Given the description of an element on the screen output the (x, y) to click on. 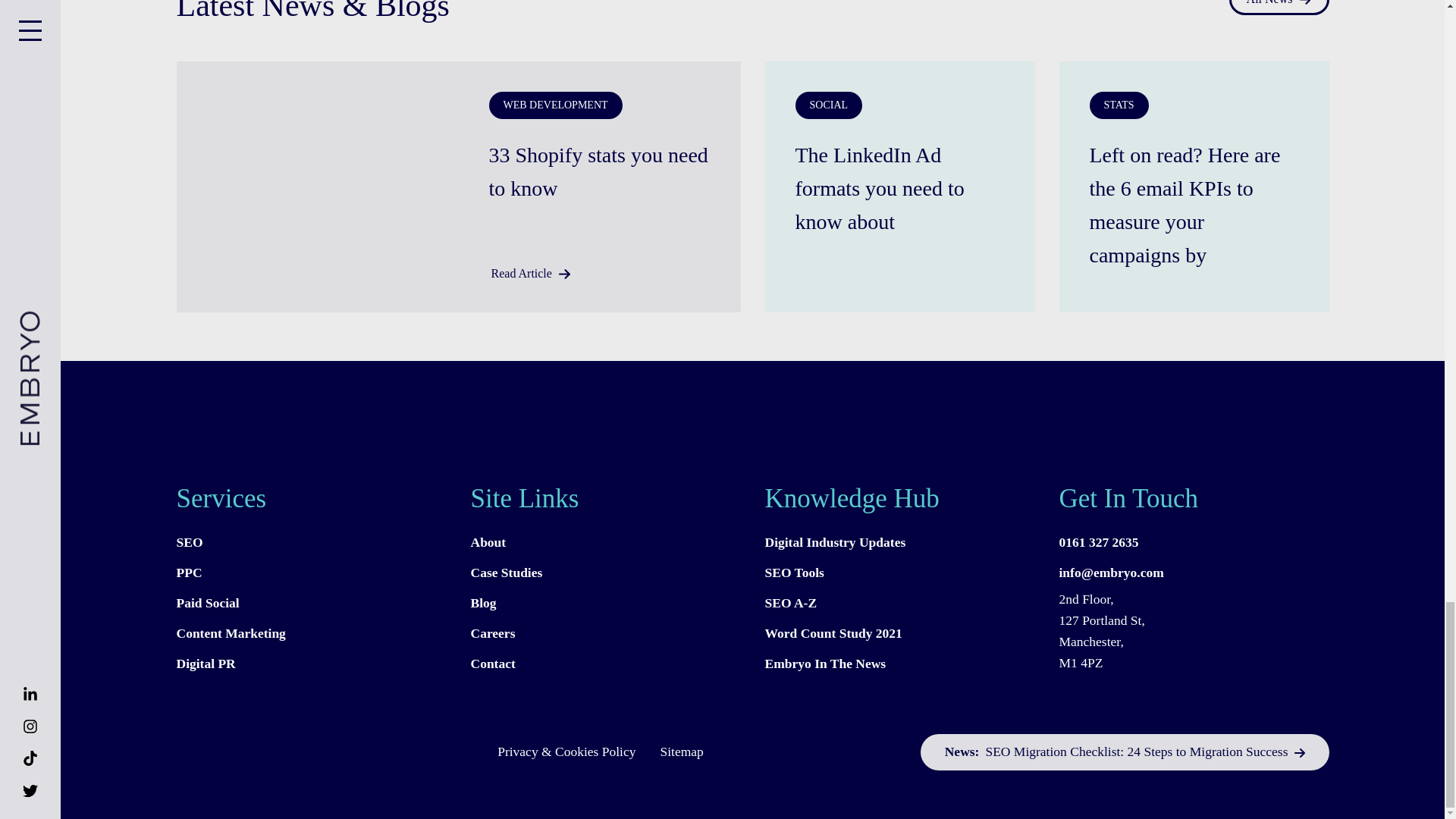
All News (1278, 7)
33 Shopify stats you need to know (598, 170)
Read article (1193, 203)
Read Article (529, 272)
PPC (310, 572)
The LinkedIn Ad formats you need to know about (899, 186)
Read article (899, 186)
SOCIAL (827, 104)
STATS (1118, 104)
SEO (310, 542)
WEB DEVELOPMENT (554, 104)
Back to the homepage (341, 751)
